Given the description of an element on the screen output the (x, y) to click on. 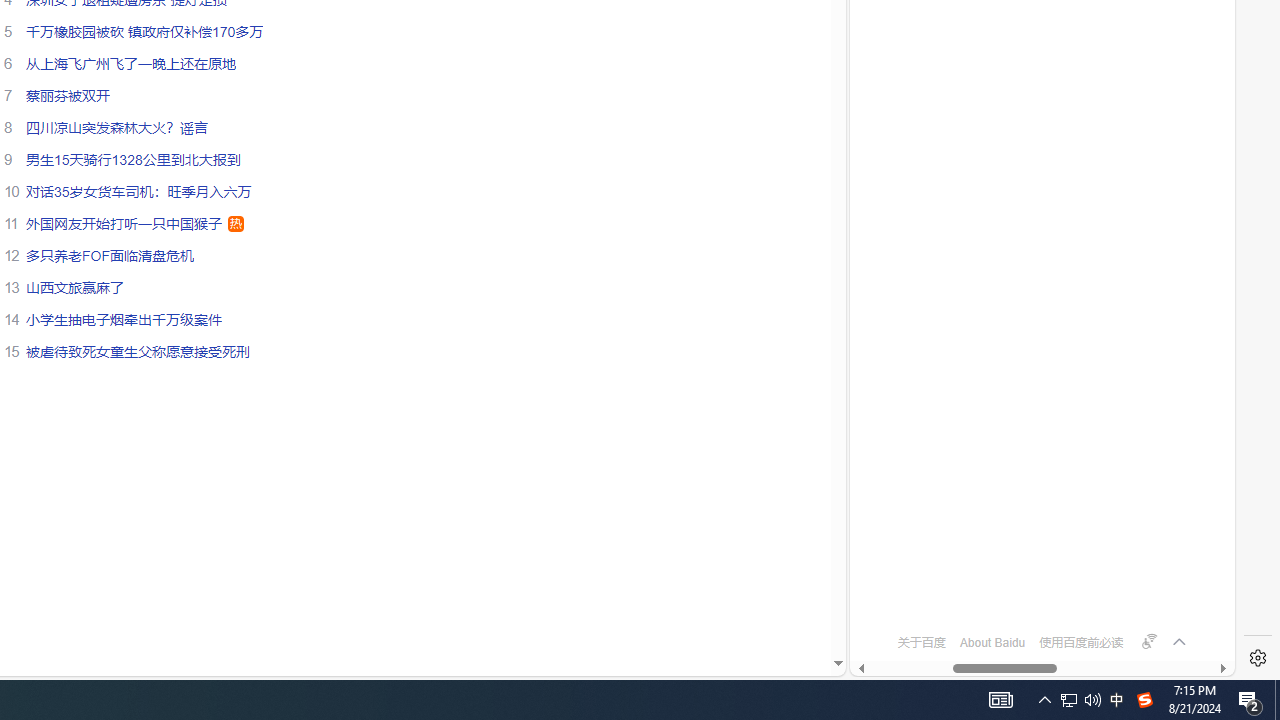
OFTV (1034, 587)
Settings (1258, 658)
About Baidu (992, 642)
